Given the description of an element on the screen output the (x, y) to click on. 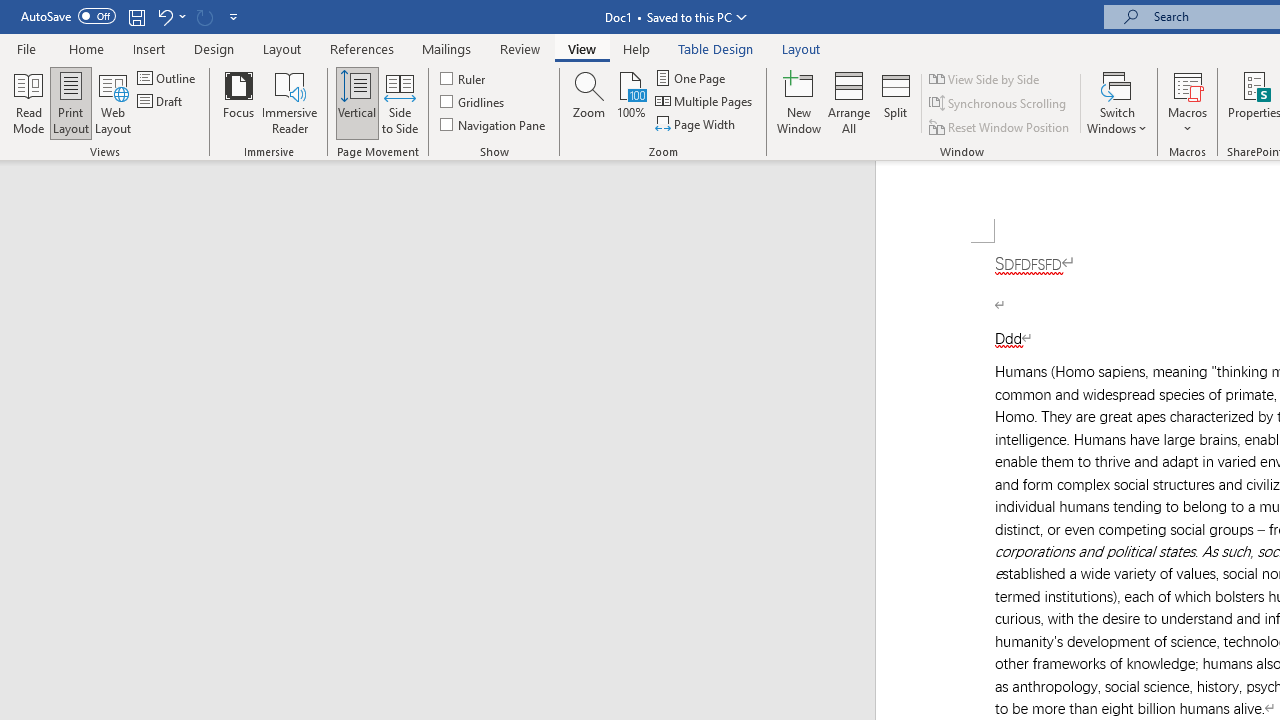
100% (630, 102)
Switch Windows (1117, 102)
View Macros (1187, 84)
Table Design (715, 48)
Focus (238, 102)
Navigation Pane (493, 124)
Zoom... (589, 102)
Draft (161, 101)
One Page (691, 78)
Synchronous Scrolling (998, 103)
Side to Side (399, 102)
